Given the description of an element on the screen output the (x, y) to click on. 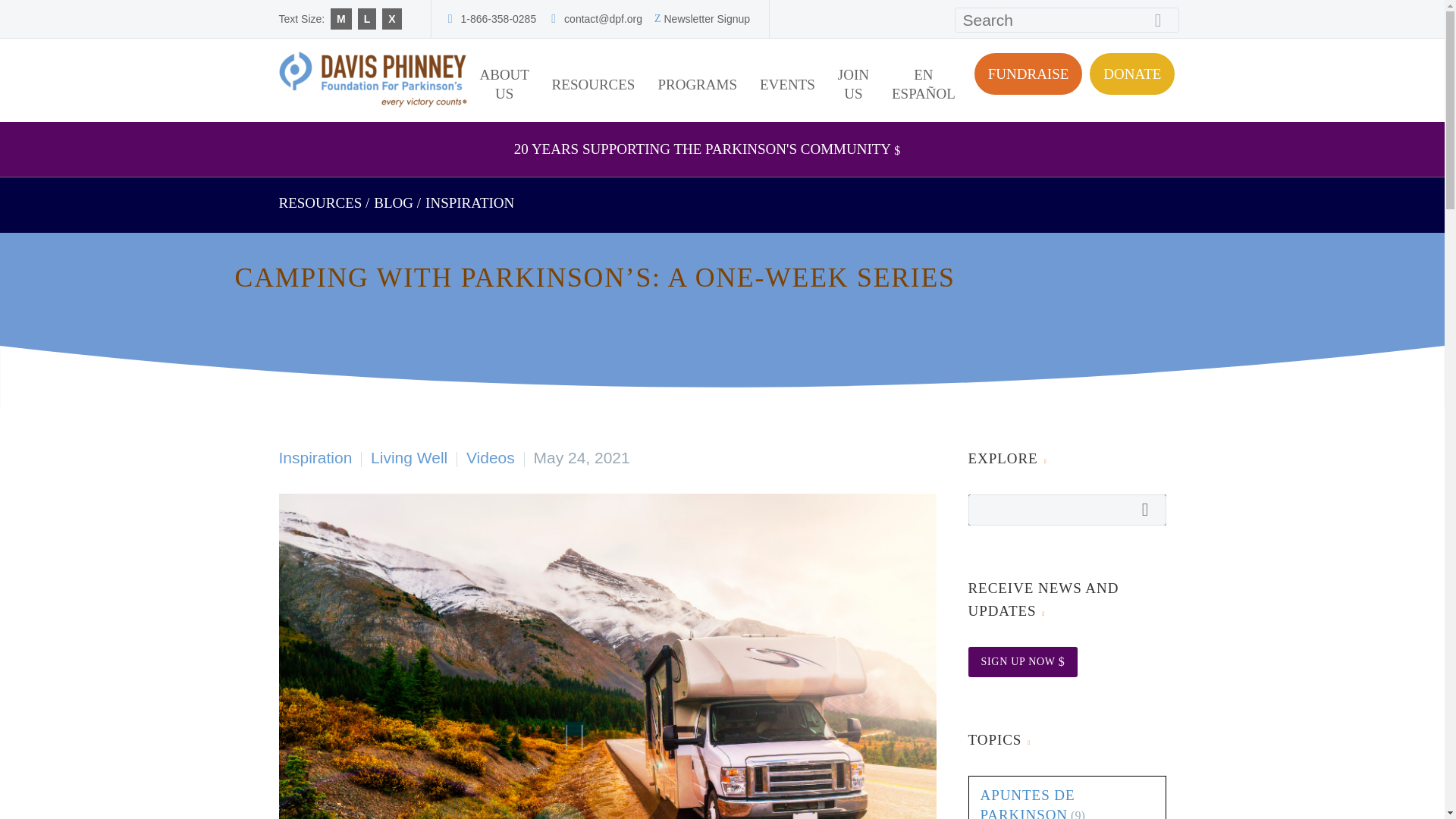
ABOUT US (504, 83)
X (391, 18)
View all posts in Living Well (408, 457)
Back to Resources (320, 202)
SEARCH (1163, 19)
View all posts in Videos (490, 457)
Back to Blog (393, 202)
Inspiration (469, 202)
1-866-358-0285 (499, 19)
View all posts filed under Apuntes de Parkinson (1026, 803)
RESOURCES (593, 83)
L (367, 18)
M (341, 18)
View all posts in Inspiration (315, 457)
Newsletter Signup (706, 19)
